Given the description of an element on the screen output the (x, y) to click on. 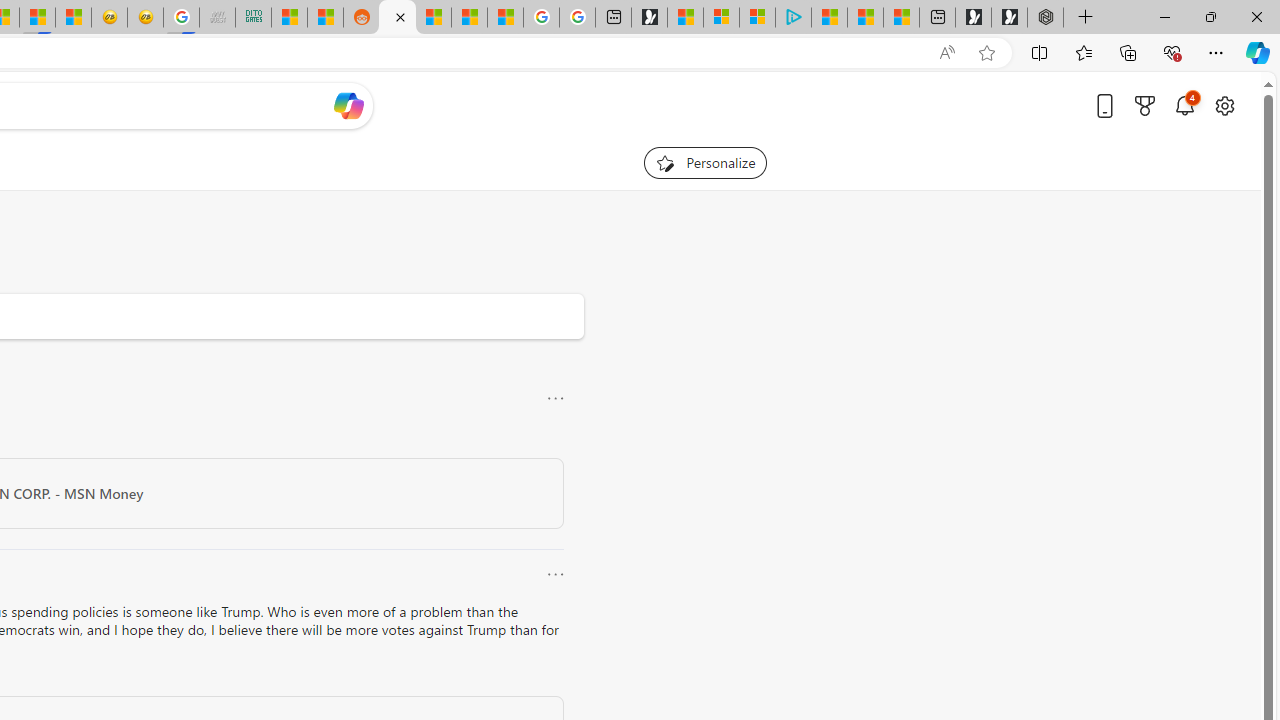
These 3 Stocks Pay You More Than 5% to Own Them (901, 17)
